Given the description of an element on the screen output the (x, y) to click on. 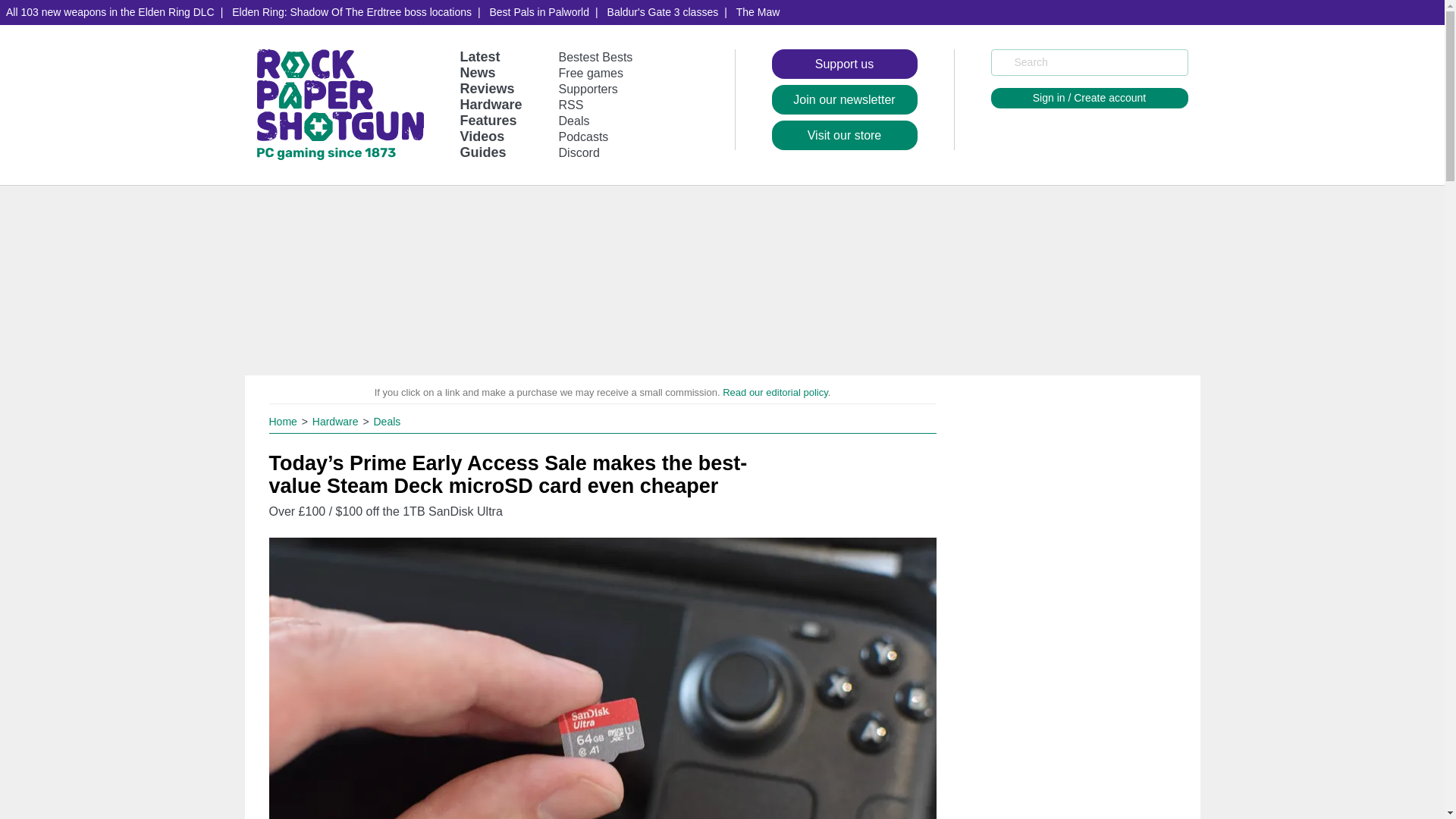
Features (488, 120)
Elden Ring: Shadow Of The Erdtree boss locations (351, 12)
Free games (591, 72)
Discord (579, 152)
Home (283, 421)
RSS (571, 104)
Best Pals in Palworld (539, 12)
Guides (482, 151)
Latest (479, 56)
Baldur's Gate 3 classes (663, 12)
Elden Ring: Shadow Of The Erdtree boss locations (351, 12)
Hardware (490, 104)
Bestest Bests (596, 56)
Reviews (486, 88)
All 103 new weapons in the Elden Ring DLC (110, 12)
